Given the description of an element on the screen output the (x, y) to click on. 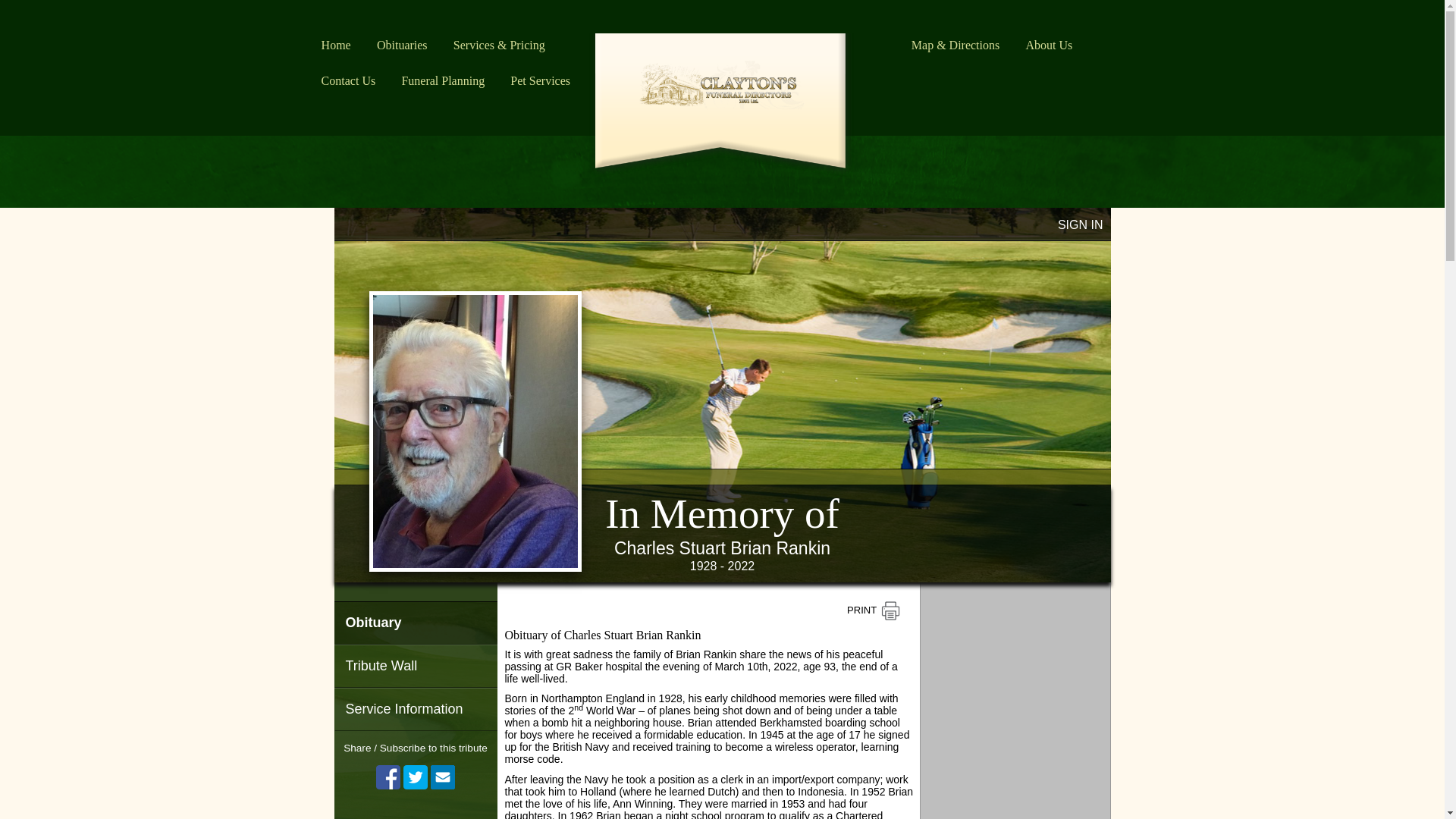
Receive Notifications (442, 776)
Facebook (387, 776)
PRINT (872, 610)
Funeral Planning (442, 76)
Tribute Wall (414, 666)
Service Information (414, 709)
Print (872, 610)
Home (335, 40)
Pet Services (539, 76)
Contact Us (348, 76)
